Given the description of an element on the screen output the (x, y) to click on. 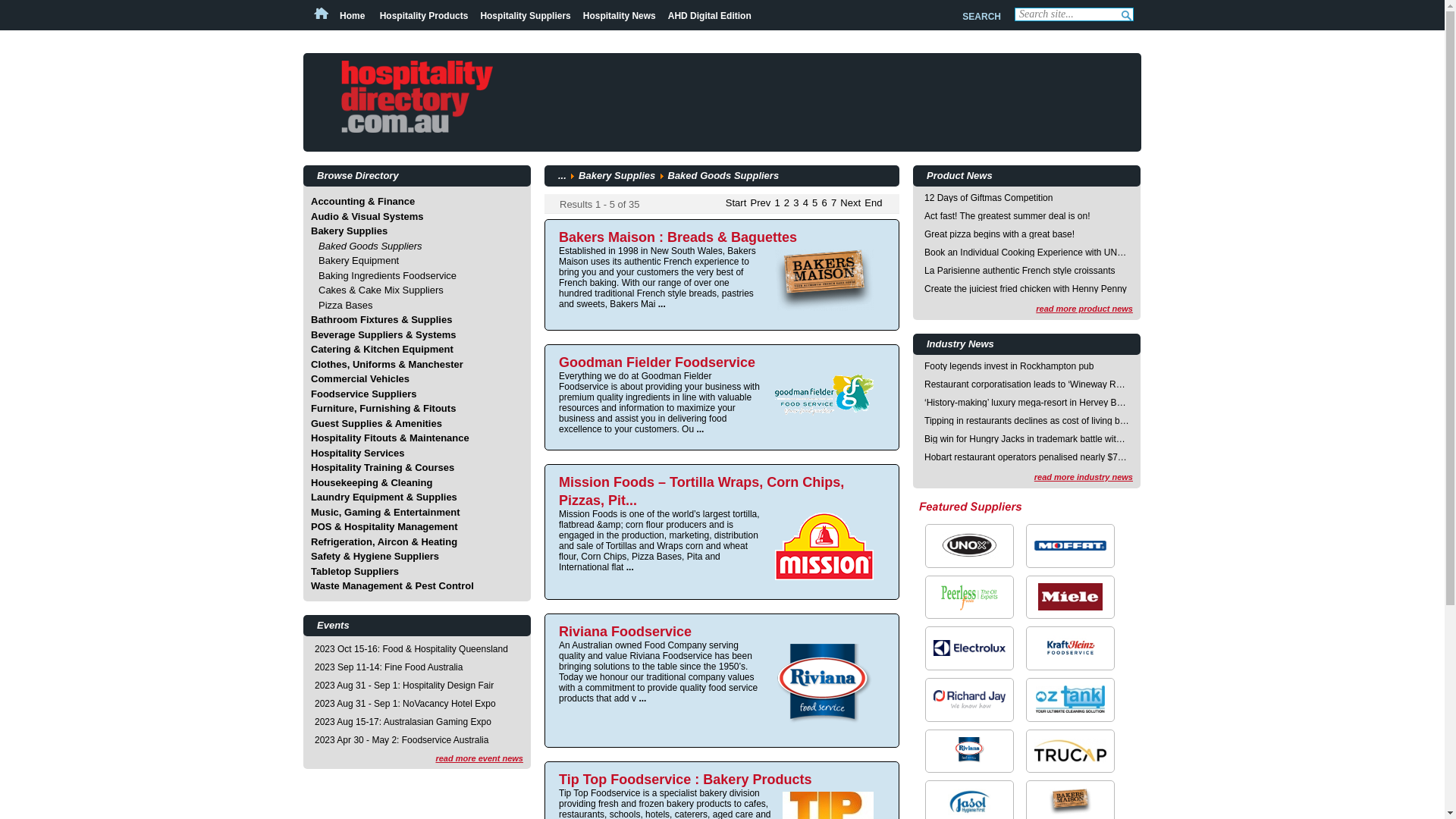
Hospitality Suppliers Element type: text (525, 15)
Catering & Kitchen Equipment Element type: text (381, 348)
2023 Aug 31 - Sep 1: Hospitality Design Fair Element type: text (403, 684)
Hospitality Products Element type: text (423, 15)
Foodservice Suppliers Element type: text (363, 393)
Tabletop Suppliers Element type: text (354, 571)
Music, Gaming & Entertainment Element type: text (384, 511)
Audio & Visual Systems Element type: text (366, 216)
2 Element type: text (786, 202)
7 Element type: text (833, 202)
Accounting & Finance Element type: text (362, 201)
Commercial Vehicles Element type: text (359, 378)
Bakery Supplies Element type: text (616, 175)
Bakers Maison : Breads & Baguettes Element type: text (677, 236)
Bathroom Fixtures & Supplies Element type: text (380, 319)
2023 Aug 15-17: Australasian Gaming Expo Element type: text (402, 720)
Goodman Fielder Foodservice Element type: text (656, 362)
  Element type: text (1128, 16)
Footy legends invest in Rockhampton pub Element type: text (1026, 365)
Act fast! The greatest summer deal is on! Element type: text (1026, 215)
Bakery Equipment Element type: text (358, 260)
read more industry news Element type: text (1083, 476)
Safety & Hygiene Suppliers Element type: text (374, 555)
Hospitality News Element type: text (619, 15)
... Element type: text (562, 175)
Hospitality Services Element type: text (357, 452)
2023 Sep 11-14: Fine Food Australia Element type: text (388, 666)
Waste Management & Pest Control Element type: text (391, 585)
Refrigeration, Aircon & Heating Element type: text (383, 540)
Beverage Suppliers & Systems Element type: text (382, 334)
La Parisienne authentic French style croissants Element type: text (1026, 270)
2023 Oct 15-16: Food & Hospitality Queensland Element type: text (411, 648)
Hobart restaurant operators penalised nearly $70,000 Element type: text (1026, 456)
2023 Aug 31 - Sep 1: NoVacancy Hotel Expo Element type: text (404, 702)
Hospitality Training & Courses Element type: text (382, 467)
Tipping in restaurants declines as cost of living bites Element type: text (1026, 420)
Guest Supplies & Amenities Element type: text (376, 422)
Clothes, Uniforms & Manchester Element type: text (386, 363)
Home Element type: text (340, 15)
read more event news Element type: text (479, 757)
3 Element type: text (795, 202)
Pizza Bases Element type: text (345, 304)
Cakes & Cake Mix Suppliers Element type: text (380, 289)
Next Element type: text (850, 202)
4 Element type: text (805, 202)
12 Days of Giftmas Competition Element type: text (1026, 197)
read more product news Element type: text (1083, 308)
6 Element type: text (824, 202)
Baking Ingredients Foodservice Element type: text (387, 275)
Tip Top Foodservice : Bakery Products Element type: text (684, 779)
Create the juiciest fried chicken with Henny Penny Element type: text (1026, 288)
End Element type: text (872, 202)
Book an Individual Cooking Experience with UNOX Element type: text (1026, 252)
POS & Hospitality Management Element type: text (384, 526)
Furniture, Furnishing & Fitouts Element type: text (382, 408)
Riviana Foodservice Element type: text (624, 630)
Baked Goods Suppliers Element type: text (370, 245)
Housekeeping & Cleaning Element type: text (371, 481)
Bakery Supplies Element type: text (348, 230)
AHD Digital Edition Element type: text (709, 15)
Great pizza begins with a great base! Element type: text (1026, 233)
5 Element type: text (814, 202)
Hospitality Fitouts & Maintenance Element type: text (389, 437)
2023 Apr 30 - May 2: Foodservice Australia Element type: text (401, 739)
Laundry Equipment & Supplies Element type: text (383, 496)
